Given the description of an element on the screen output the (x, y) to click on. 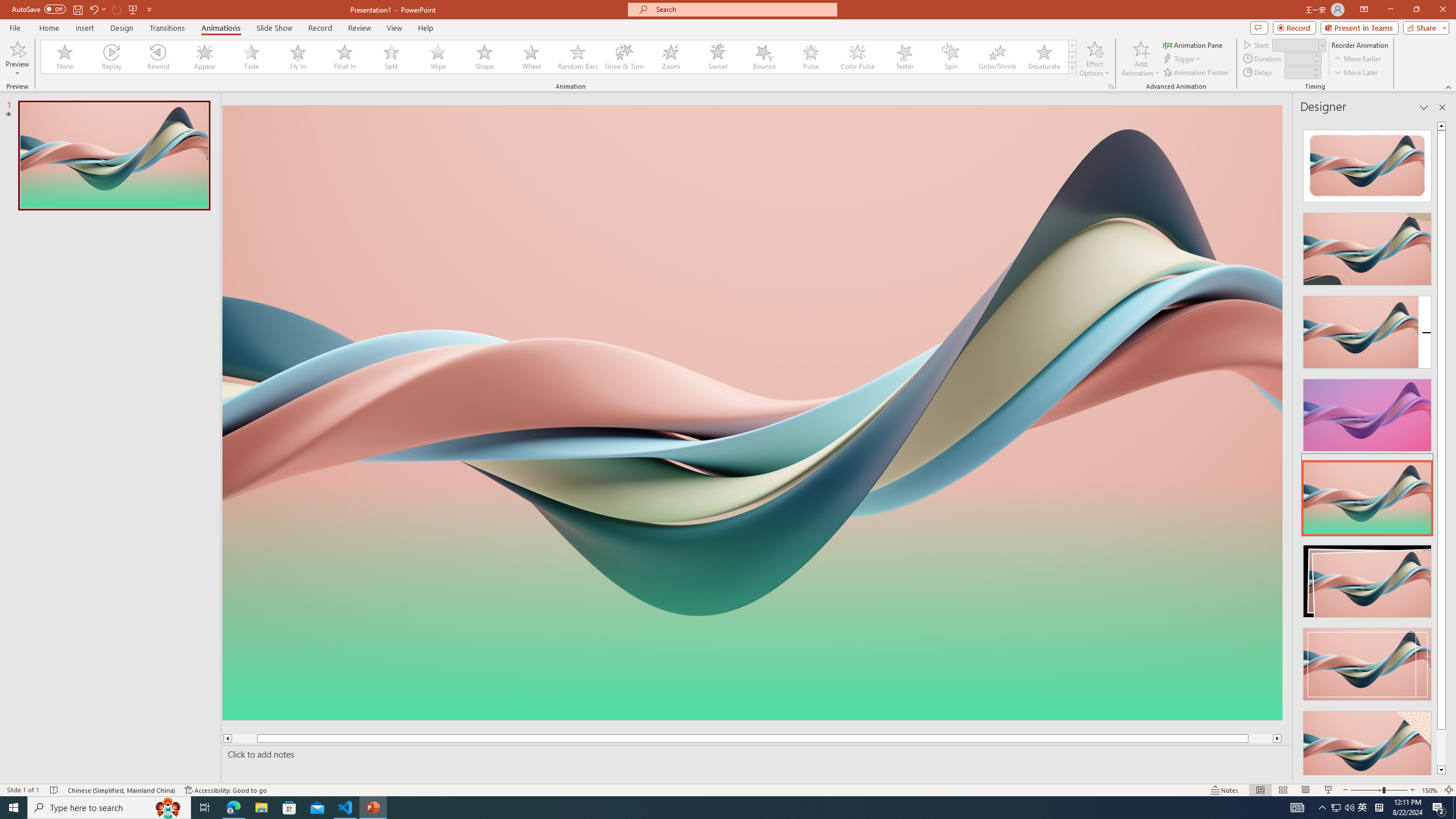
Less (1315, 75)
Spin (950, 56)
Class: NetUIImage (1072, 68)
Animation Duration (1298, 58)
Undo (92, 9)
Spell Check No Errors (54, 790)
Customize Quick Access Toolbar (149, 9)
Wheel (531, 56)
Line up (1441, 125)
Restore Down (1416, 9)
None (65, 56)
Grow/Shrink (997, 56)
Ribbon Display Options (1364, 9)
Animations (220, 28)
Animation Painter (1196, 72)
